Given the description of an element on the screen output the (x, y) to click on. 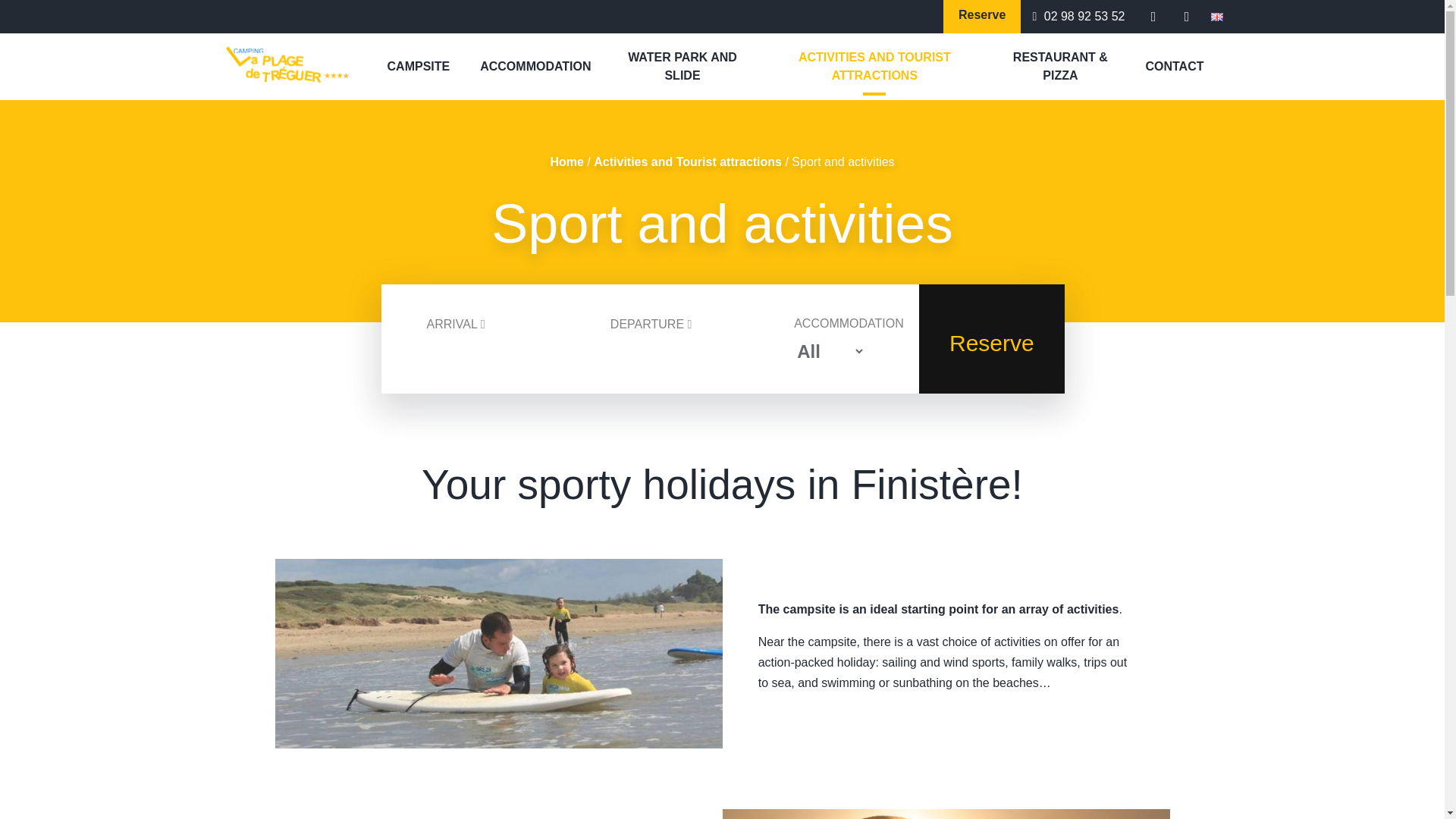
Activities and Tourist attractions (687, 161)
Reserve (991, 338)
ACCOMMODATION (534, 66)
CONTACT (1173, 66)
Washroom and Facilities (874, 109)
CAMPSITE (418, 66)
02 98 92 53 52 (1078, 16)
On site (1084, 109)
Reserve (981, 16)
Home (566, 161)
